Given the description of an element on the screen output the (x, y) to click on. 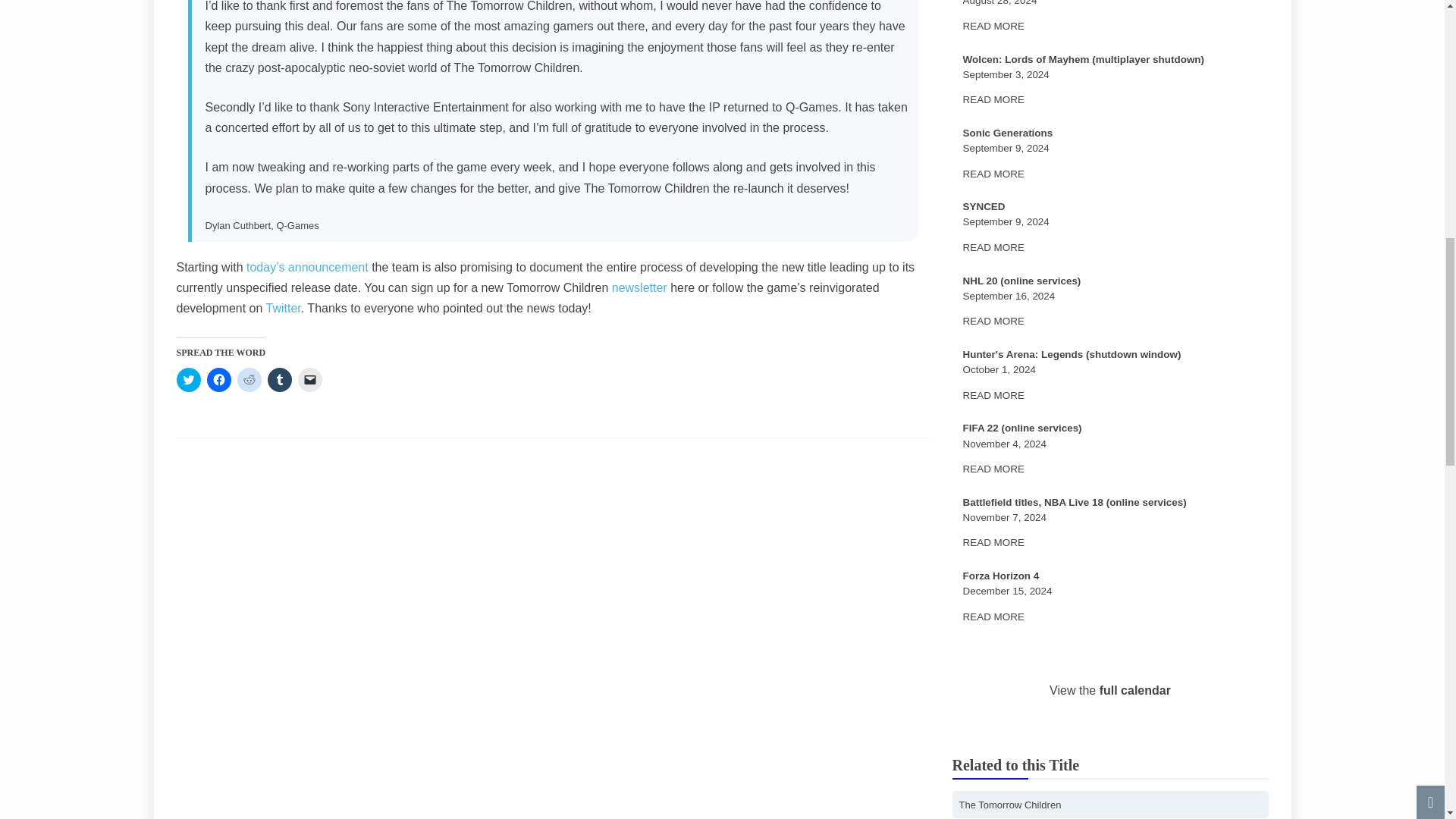
Click to email a link to a friend (309, 379)
Click to share on Twitter (188, 379)
Click to share on Tumblr (278, 379)
Click to share on Reddit (247, 379)
Click to share on Facebook (218, 379)
